Given the description of an element on the screen output the (x, y) to click on. 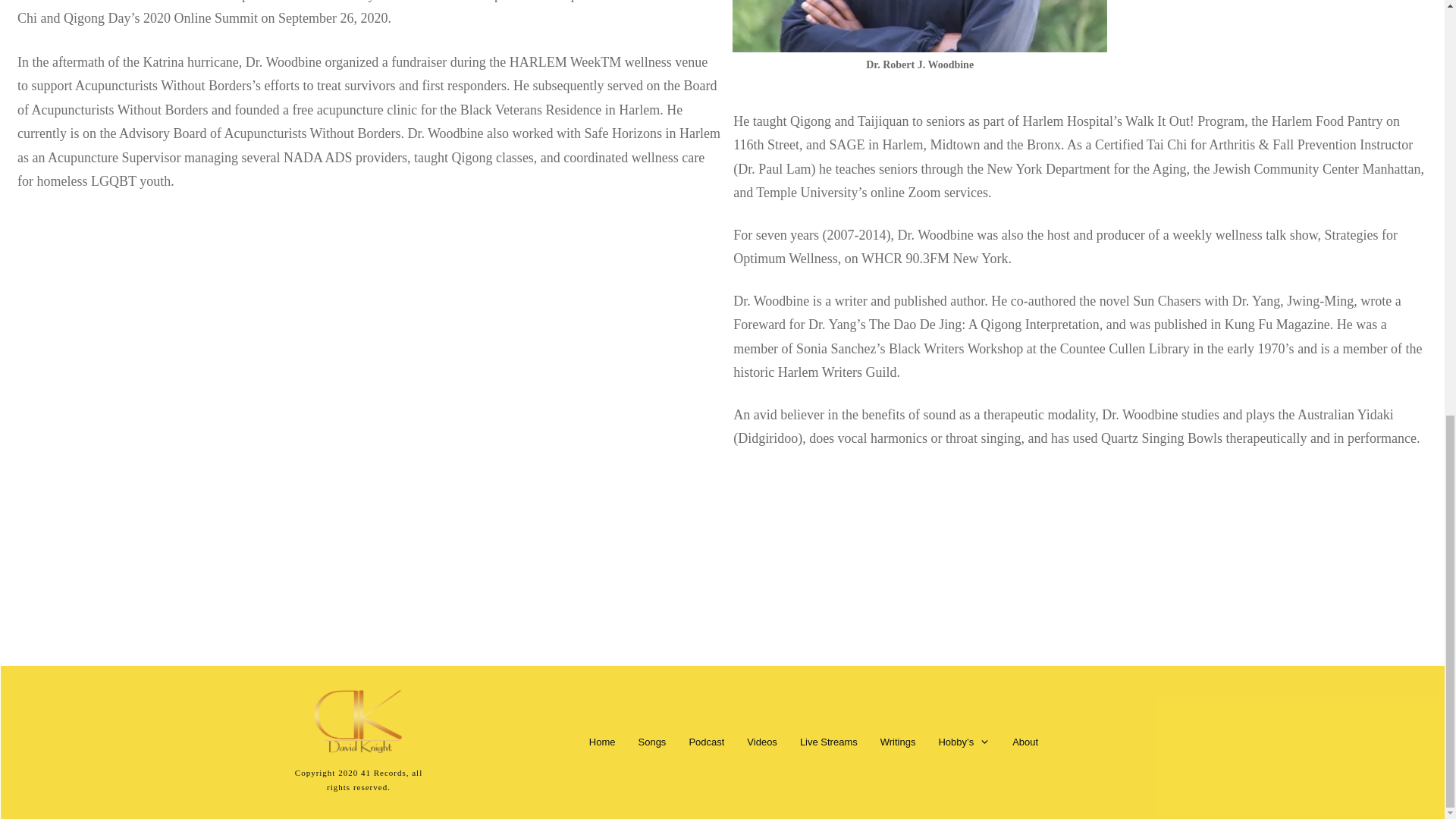
Live Streams (828, 742)
Writings (897, 742)
Videos (761, 742)
About (1024, 742)
Podcast (705, 742)
Songs (652, 742)
Home (602, 742)
